Given the description of an element on the screen output the (x, y) to click on. 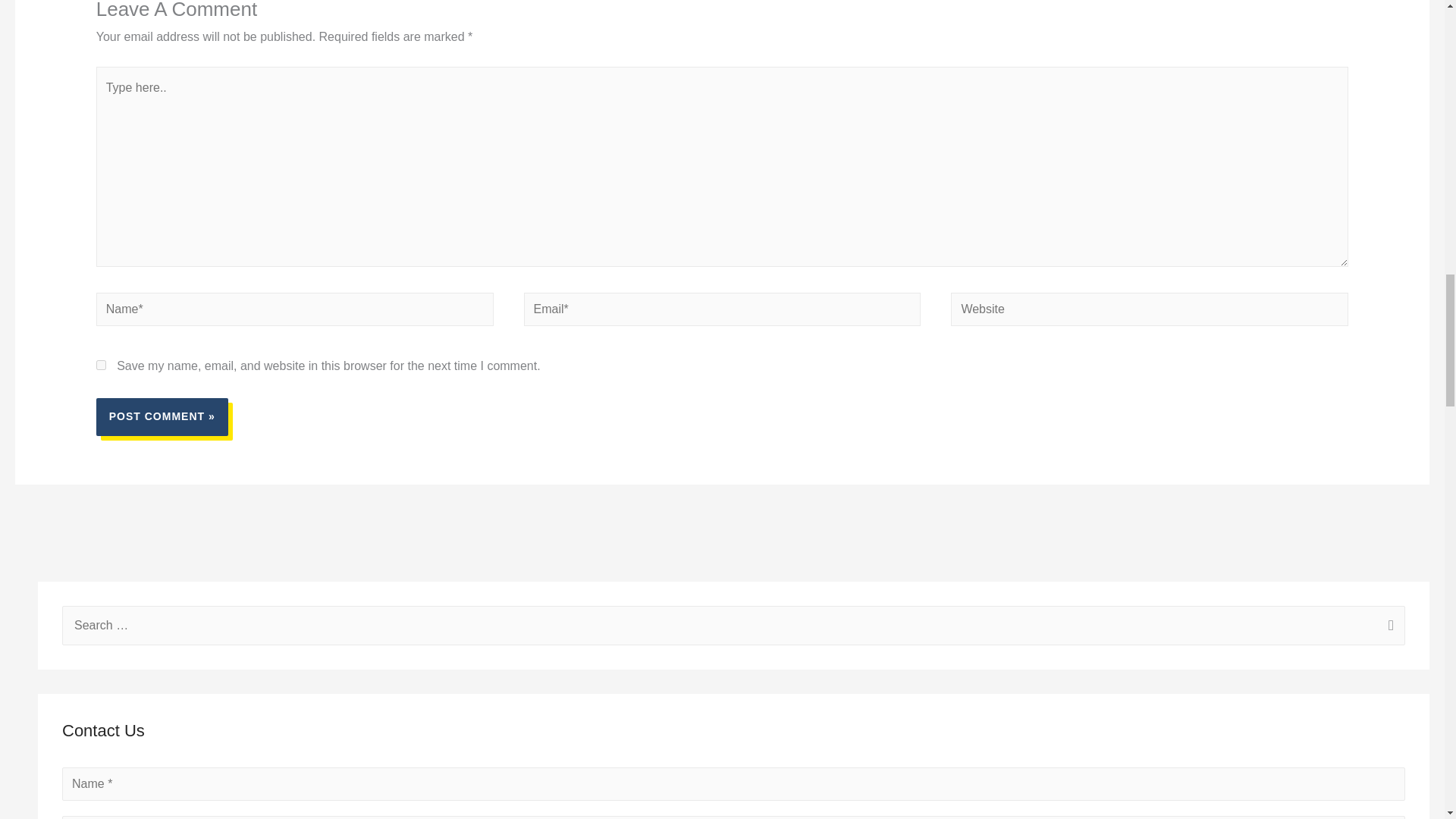
yes (101, 365)
